Given the description of an element on the screen output the (x, y) to click on. 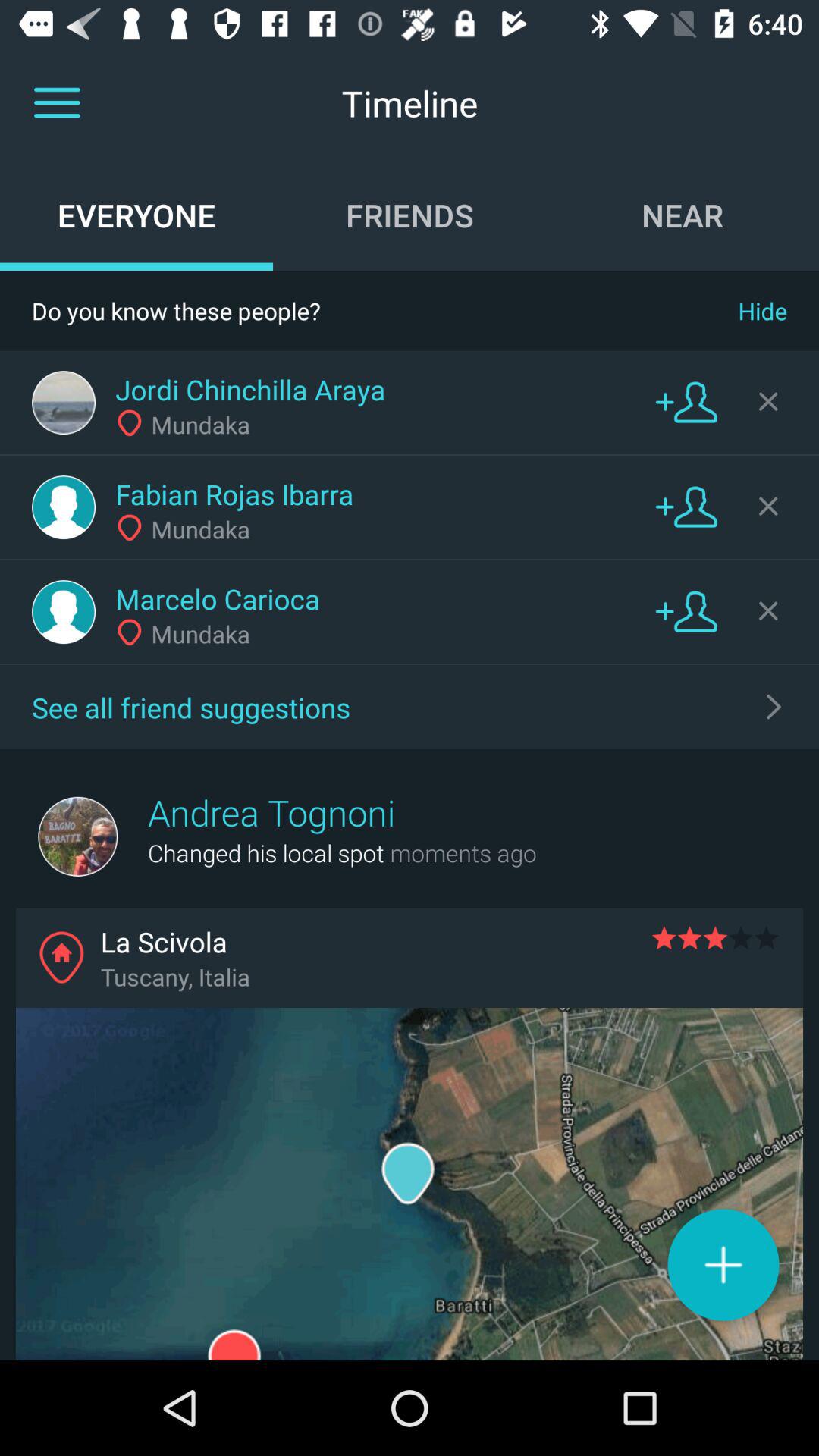
user profile icon (63, 611)
